Given the description of an element on the screen output the (x, y) to click on. 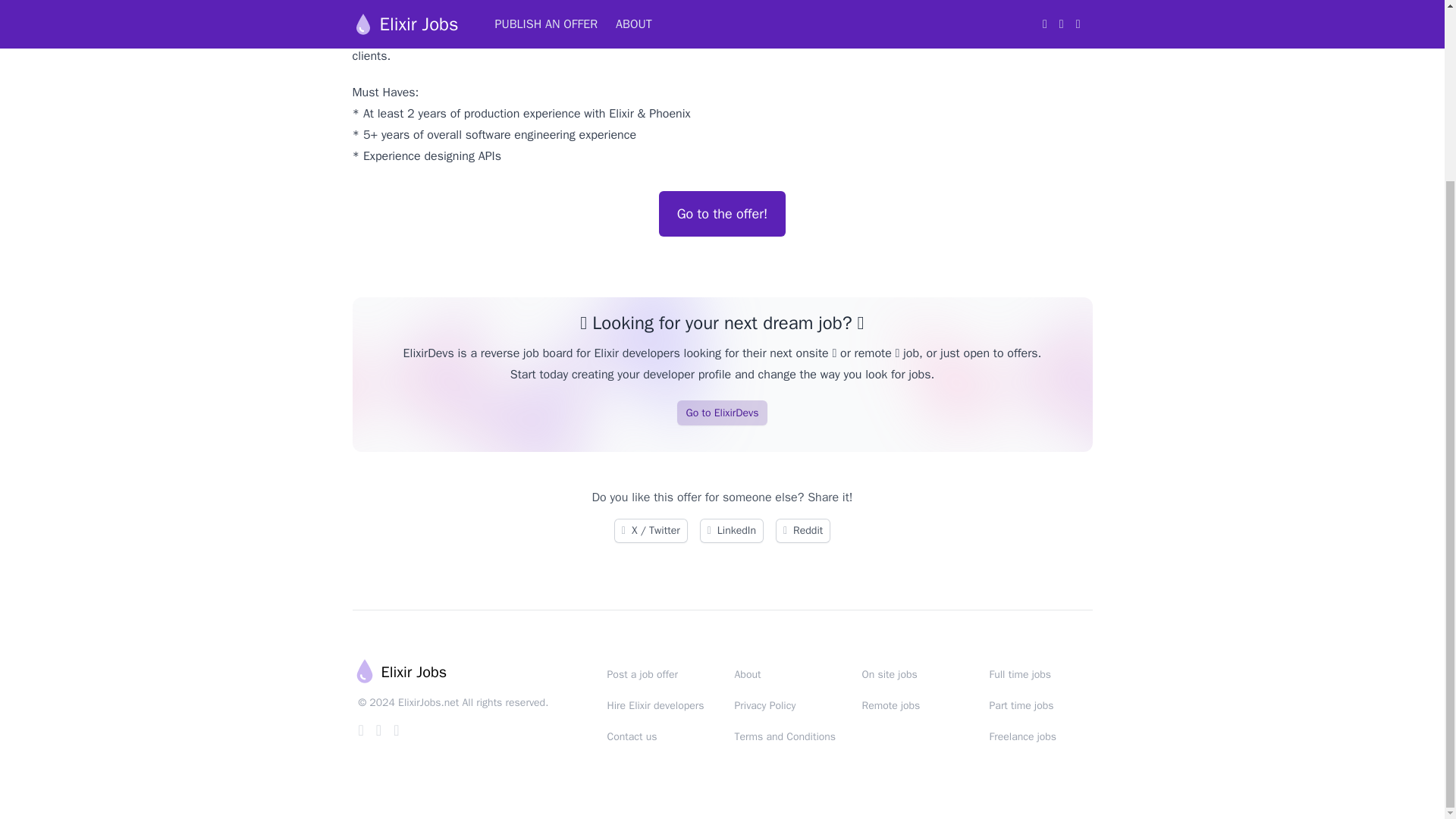
Hire Elixir developers (655, 705)
On site jobs (889, 674)
LinkedIn (731, 530)
Part time jobs (1020, 705)
Go to ElixirDevs (722, 412)
Freelance jobs (1022, 736)
About (746, 674)
Privacy Policy (763, 705)
Reddit (802, 530)
Elixir Jobs (399, 671)
